Given the description of an element on the screen output the (x, y) to click on. 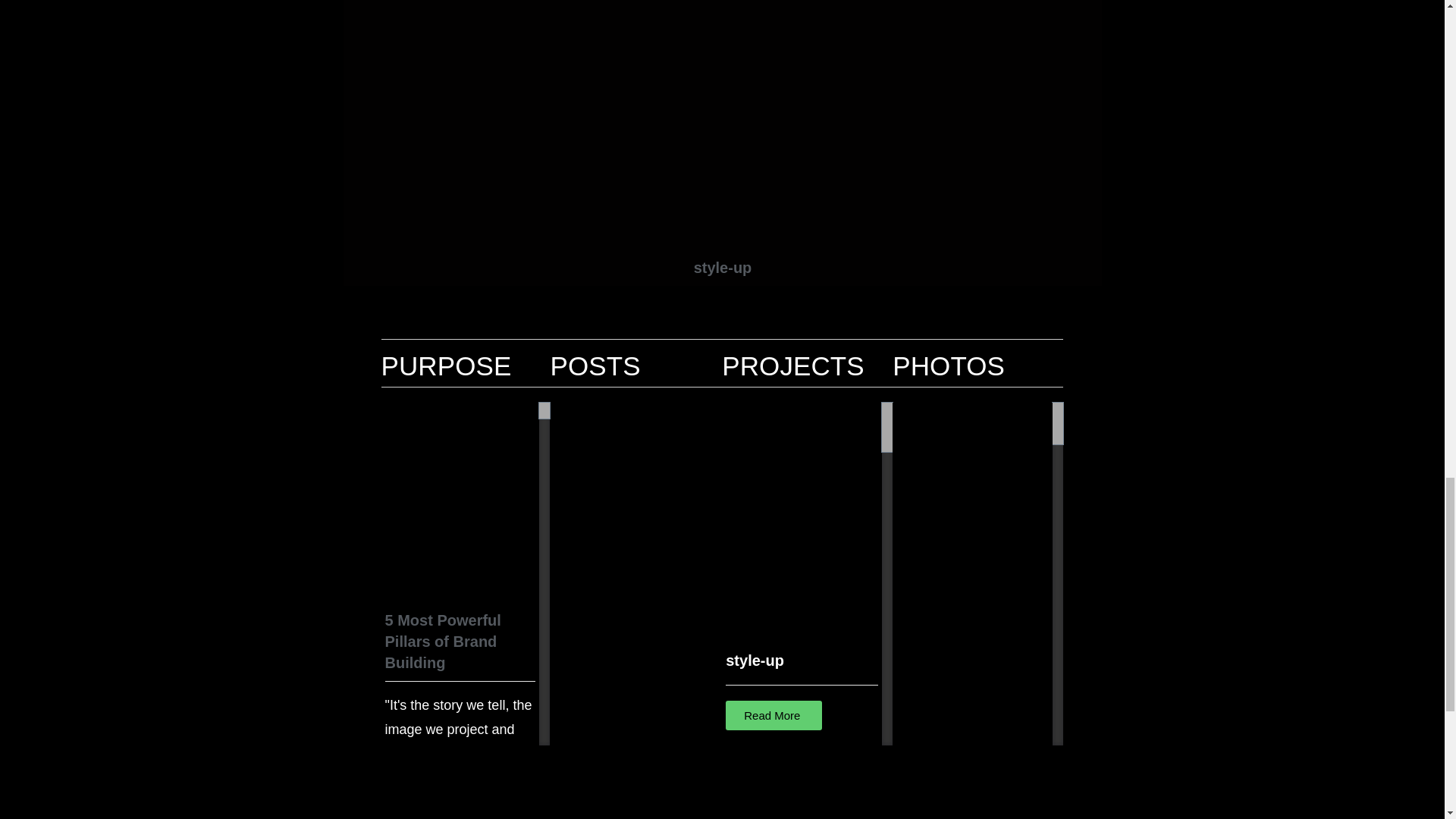
style-up (722, 267)
style-up (773, 715)
5 Most Powerful Pillars of Brand Building (442, 640)
